Given the description of an element on the screen output the (x, y) to click on. 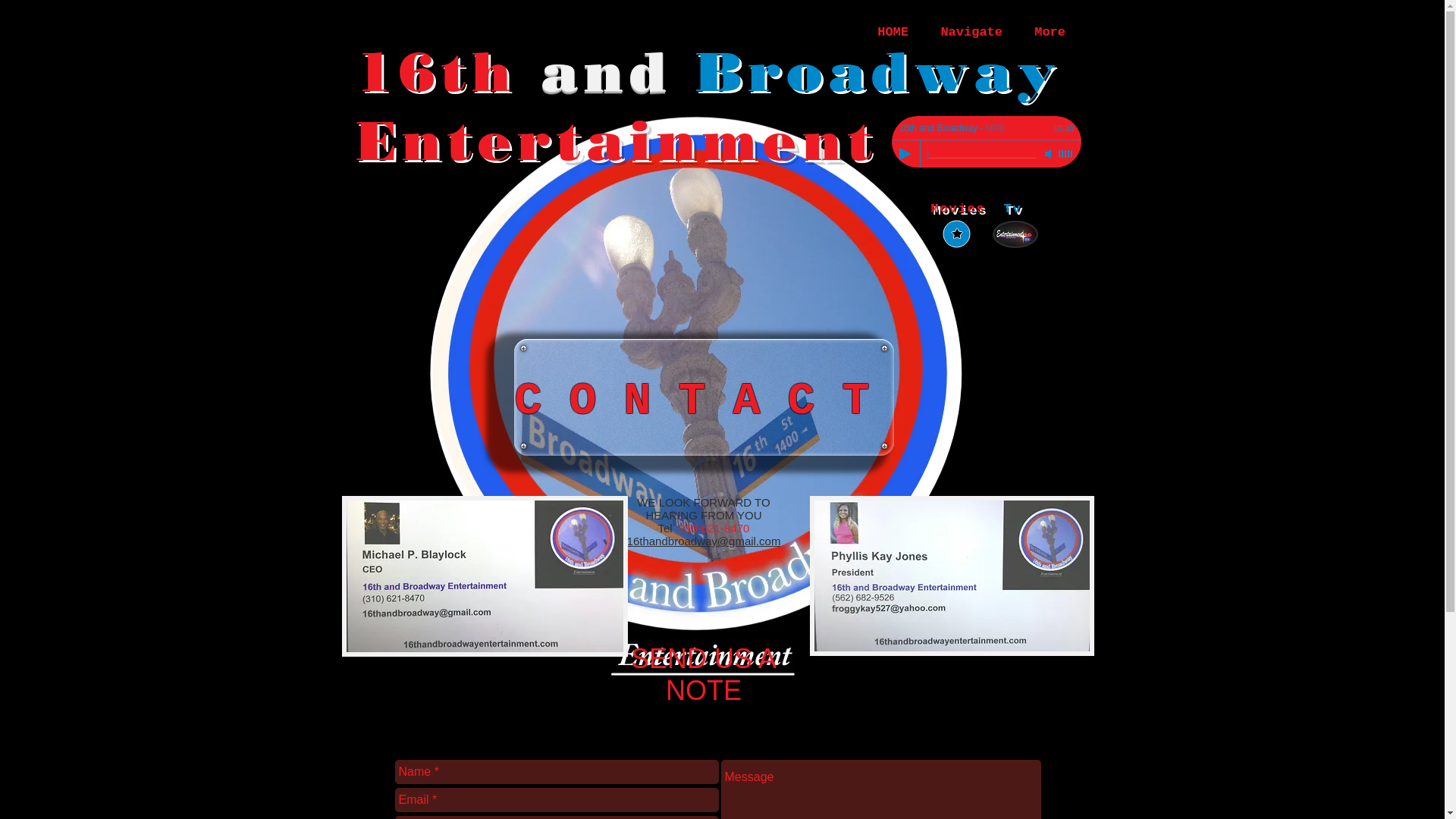
Navigate Element type: text (971, 32)
16thandbroadway@gmail.com Element type: text (704, 540)
HOME Element type: text (892, 32)
